Given the description of an element on the screen output the (x, y) to click on. 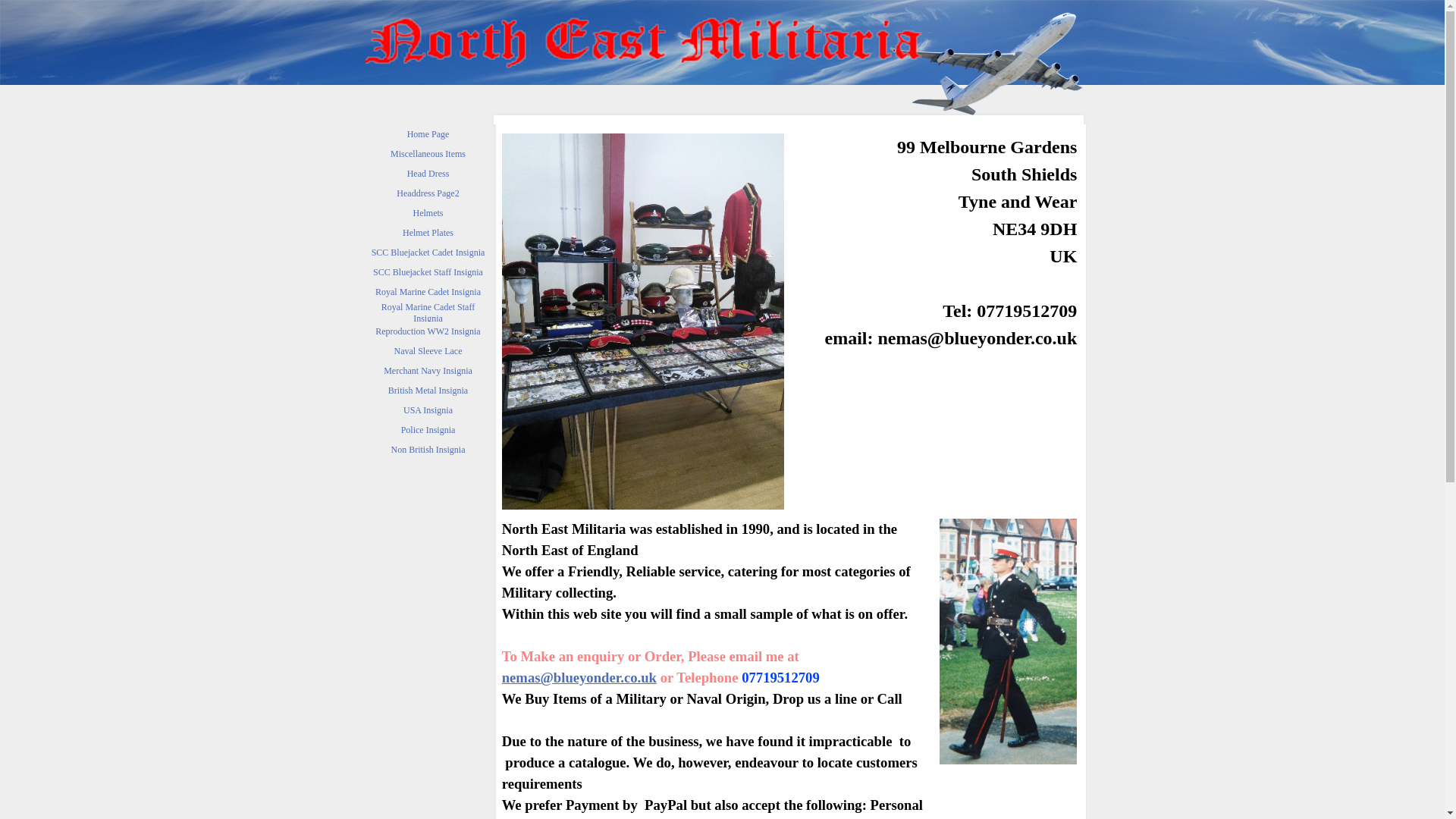
Head Dress (426, 173)
Helmets (426, 212)
Home Page (426, 134)
Miscellaneous Items (426, 153)
Headdress Page2 (426, 193)
